Given the description of an element on the screen output the (x, y) to click on. 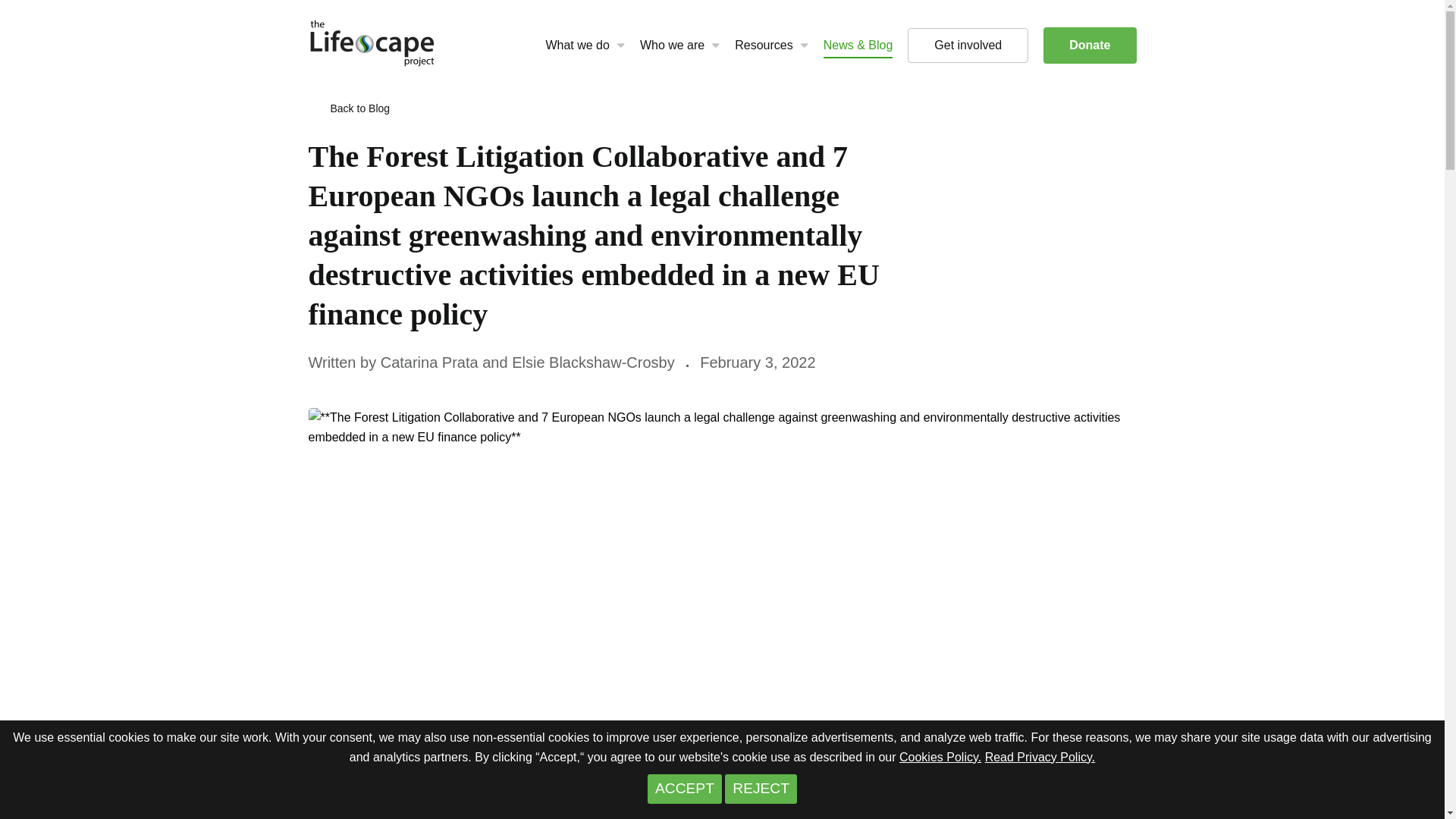
Resources (763, 45)
Back to Blog (360, 108)
Who we are (672, 45)
What we do (576, 45)
Get involved (967, 45)
Donate (1089, 45)
